Given the description of an element on the screen output the (x, y) to click on. 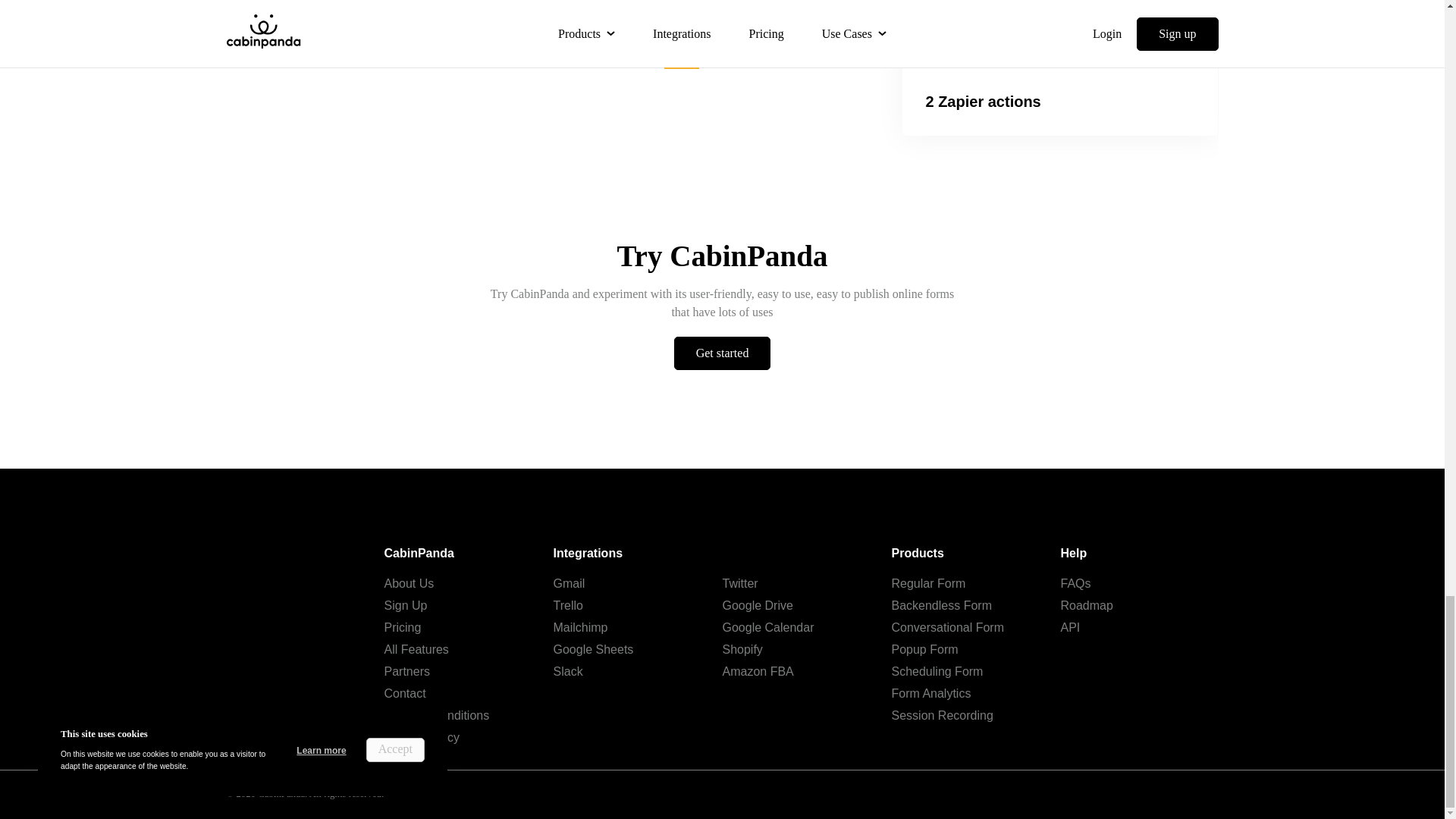
Pricing (402, 626)
Trello (568, 604)
Privacy Policy (422, 737)
Slack (568, 671)
Sign Up (405, 604)
Mailchimp (580, 626)
Contact (404, 693)
About Us (408, 583)
All Features (416, 649)
Google Sheets (593, 649)
Gmail (569, 583)
Partners (406, 671)
Get started (722, 353)
